Given the description of an element on the screen output the (x, y) to click on. 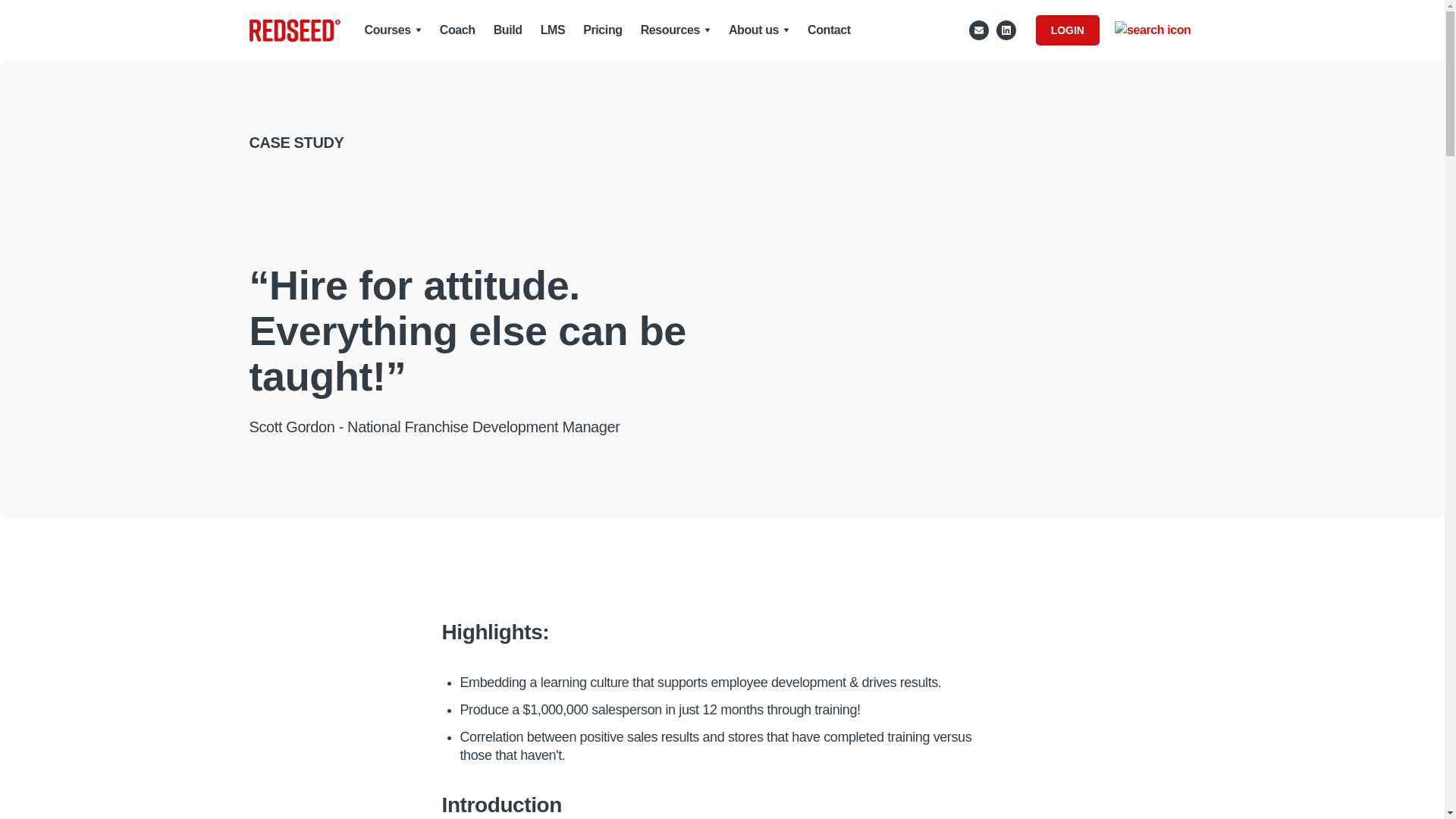
LOGIN (1067, 30)
LMS (553, 30)
Pricing (602, 30)
Coach (457, 30)
Build (507, 30)
Contact (829, 30)
